Given the description of an element on the screen output the (x, y) to click on. 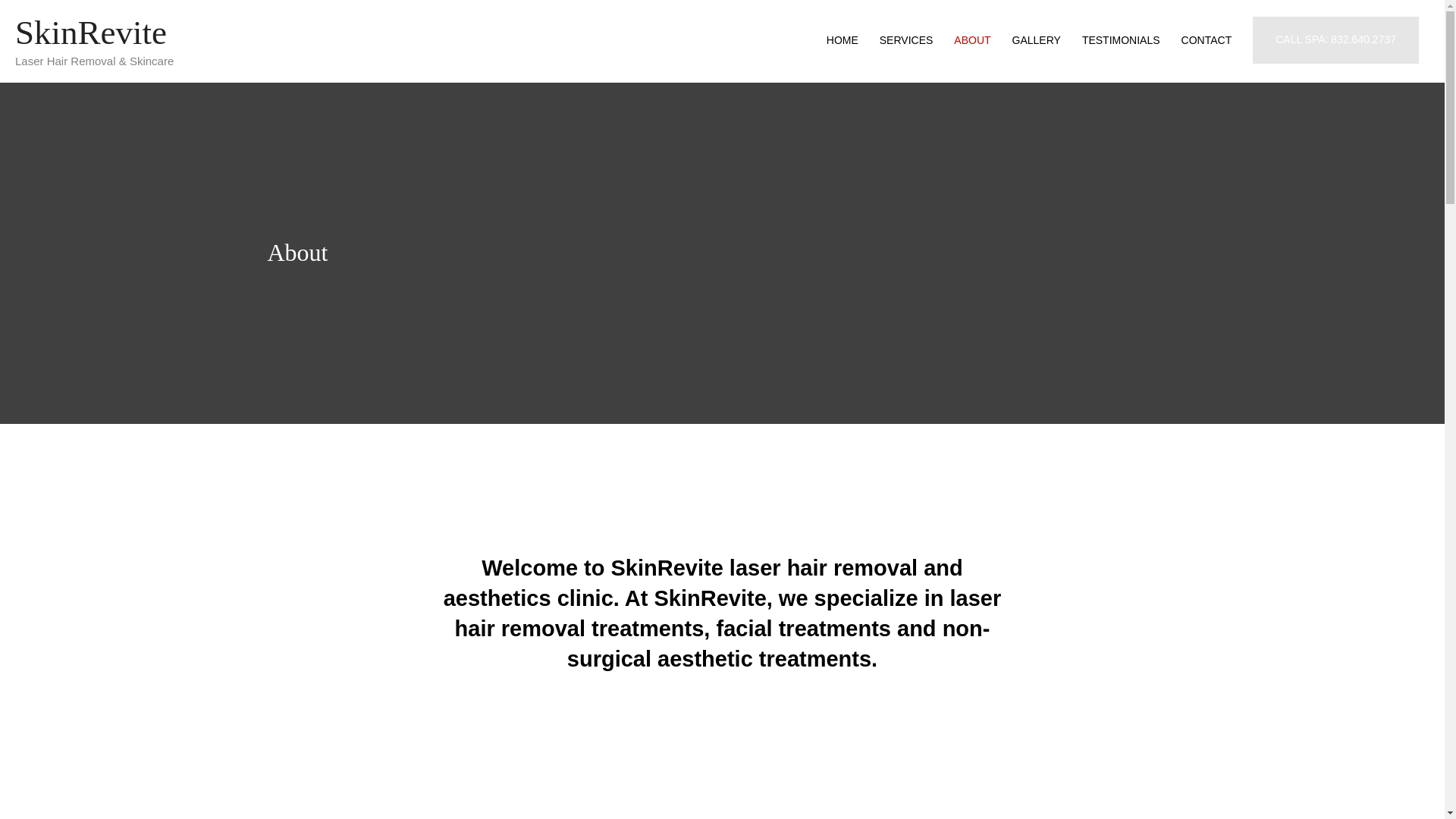
CALL SPA: 832.640.2737 (1335, 39)
About (296, 252)
About (296, 252)
CONTACT (1206, 39)
HOME (842, 39)
ABOUT (972, 39)
TESTIMONIALS (1120, 39)
GALLERY (1036, 39)
SkinRevite (90, 32)
SERVICES (906, 39)
